Given the description of an element on the screen output the (x, y) to click on. 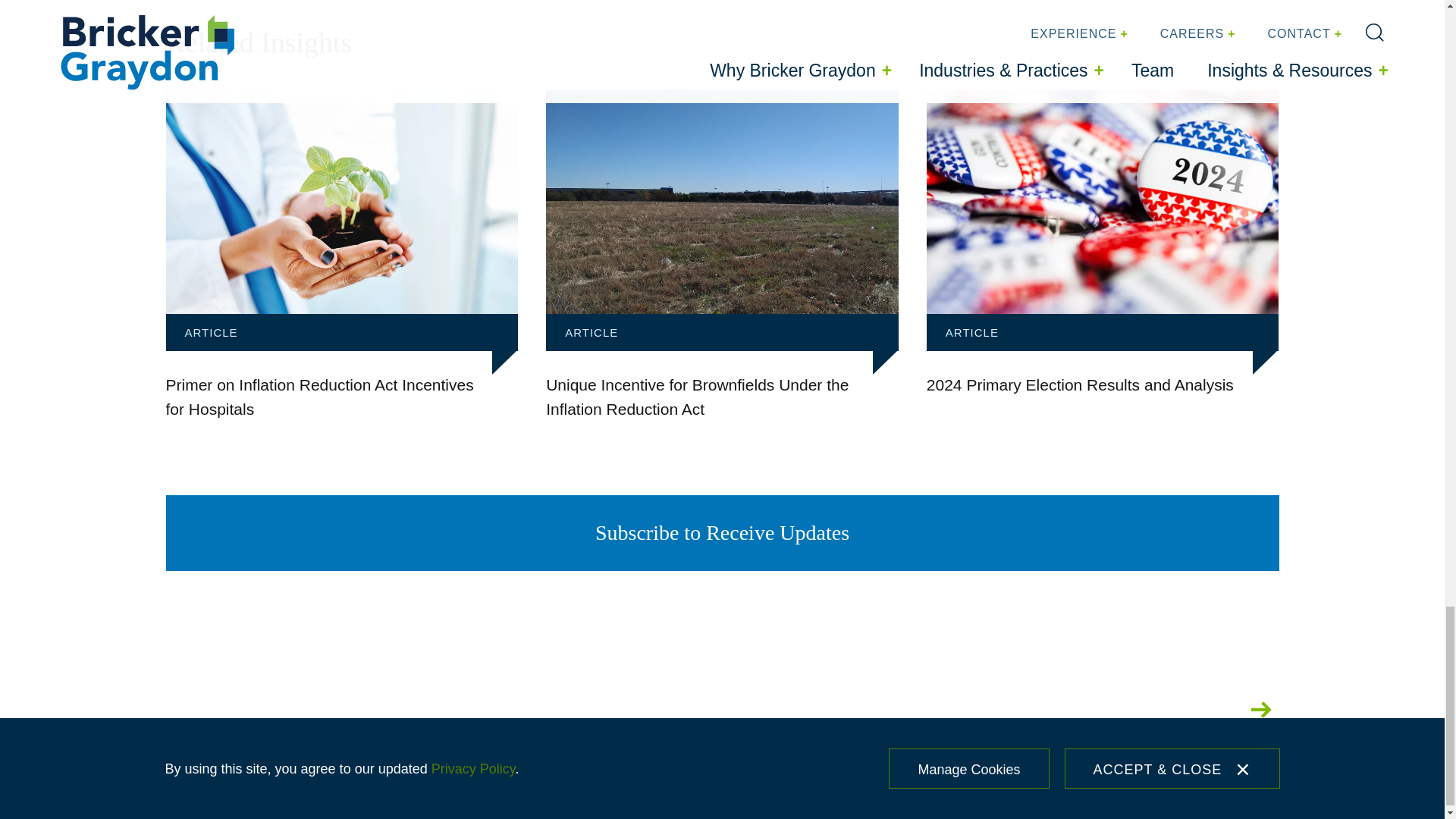
Youtube (1213, 709)
Twitter (1026, 709)
Linkedin (1164, 709)
Instagram (1075, 709)
